Given the description of an element on the screen output the (x, y) to click on. 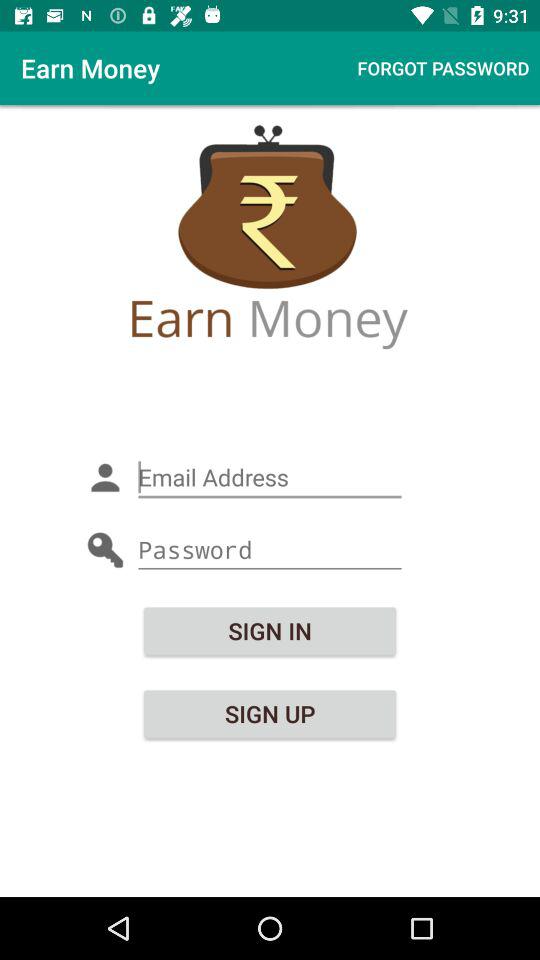
password entry (269, 549)
